Given the description of an element on the screen output the (x, y) to click on. 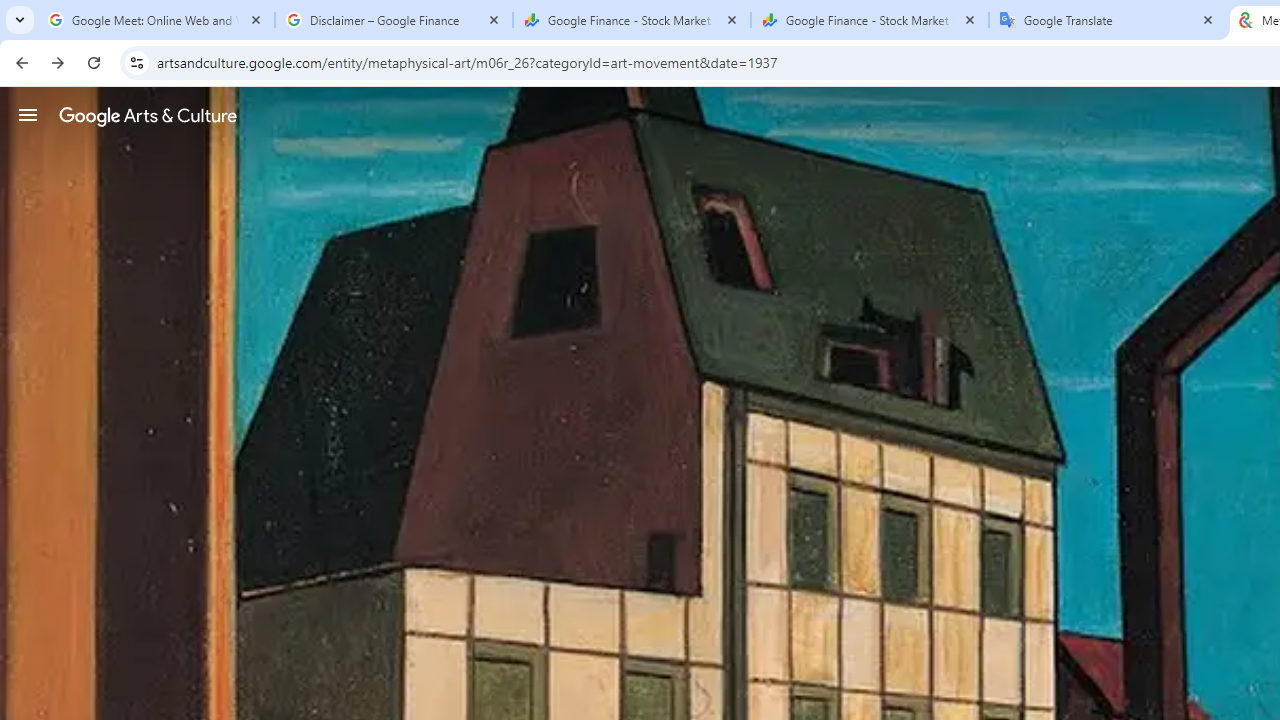
Google Translate (1108, 20)
